Given the description of an element on the screen output the (x, y) to click on. 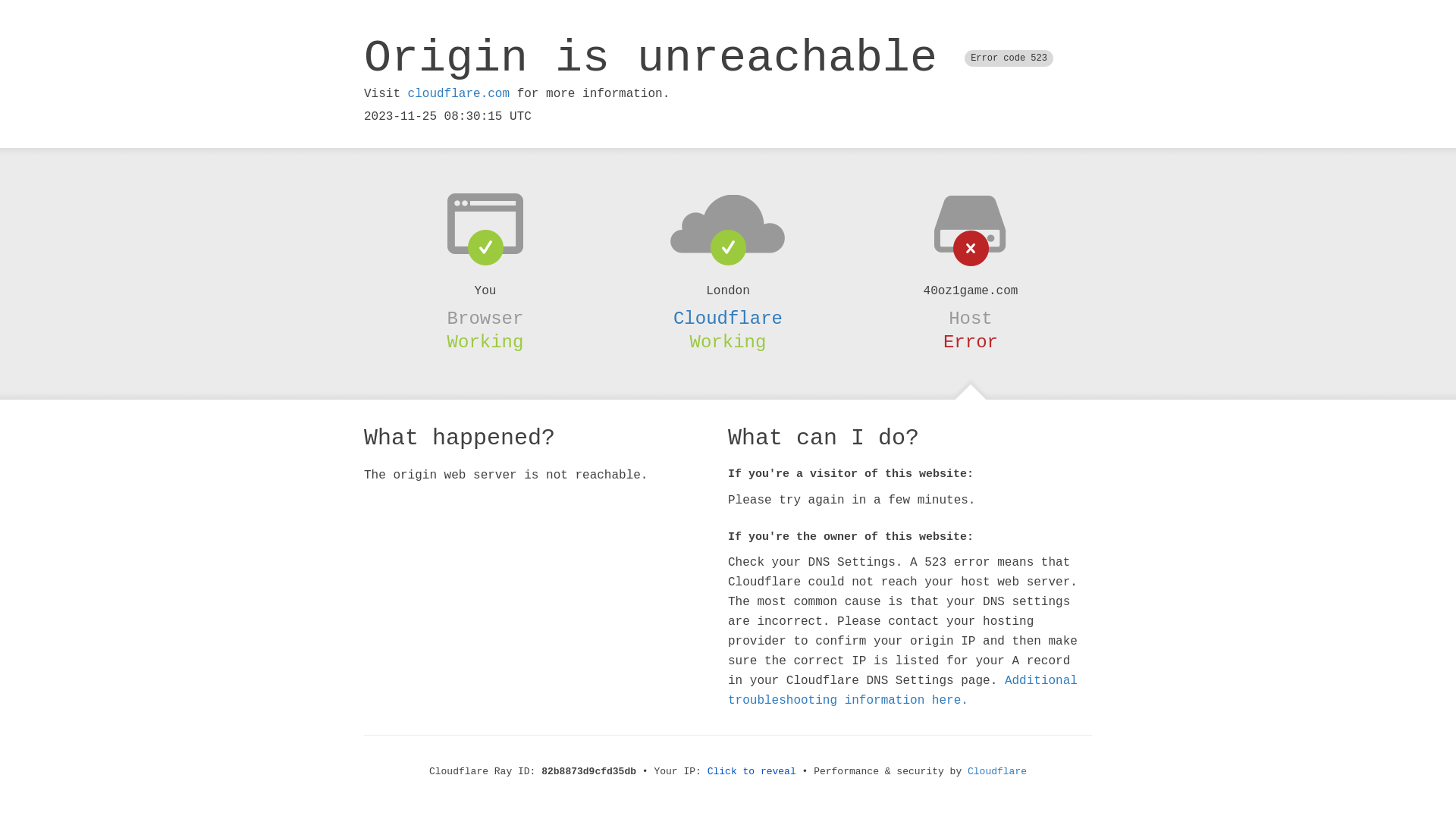
Cloudflare Element type: text (727, 318)
Click to reveal Element type: text (751, 771)
Cloudflare Element type: text (996, 771)
Additional troubleshooting information here. Element type: text (902, 690)
cloudflare.com Element type: text (458, 93)
